Given the description of an element on the screen output the (x, y) to click on. 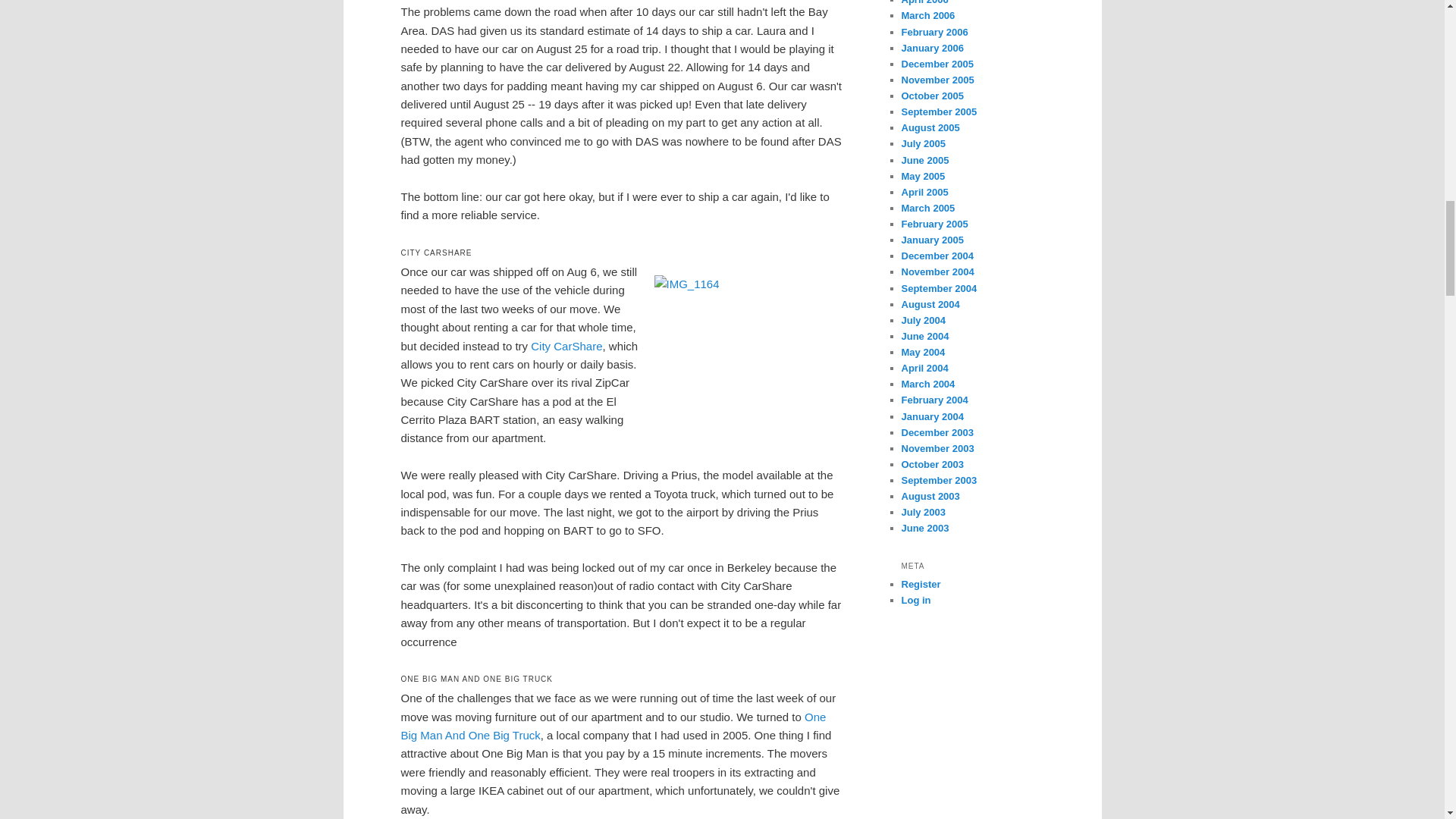
City CarShare (566, 345)
One Big Man And One Big Truck (612, 726)
